Given the description of an element on the screen output the (x, y) to click on. 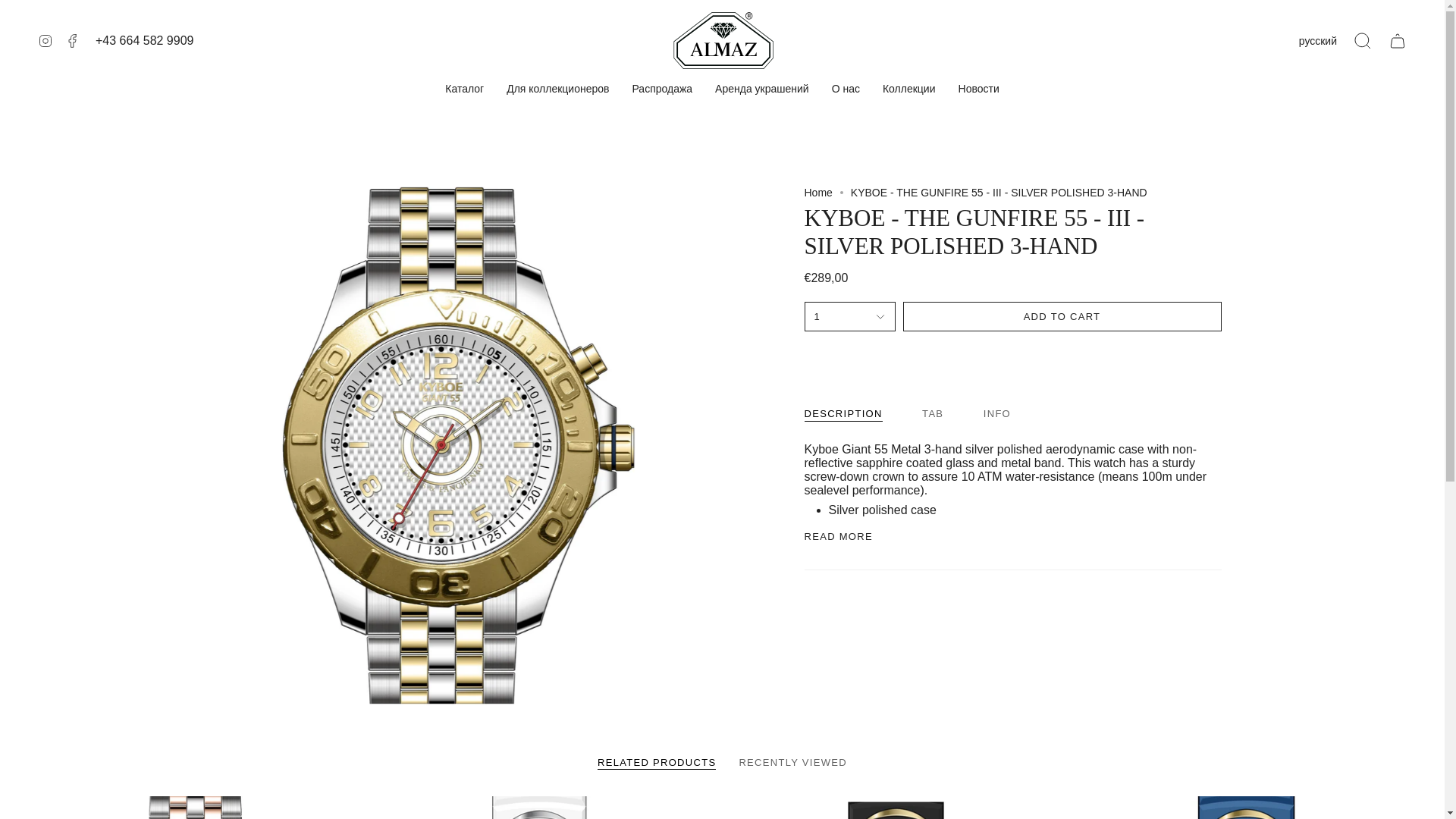
Almaz Juwelenhandelsges.m.b.H on Instagram (44, 40)
Search (1362, 40)
Cart (1397, 40)
Cart (1397, 40)
Facebook (72, 40)
Instagram (44, 40)
Almaz Juwelenhandelsges.m.b.H on Facebook (72, 40)
